Given the description of an element on the screen output the (x, y) to click on. 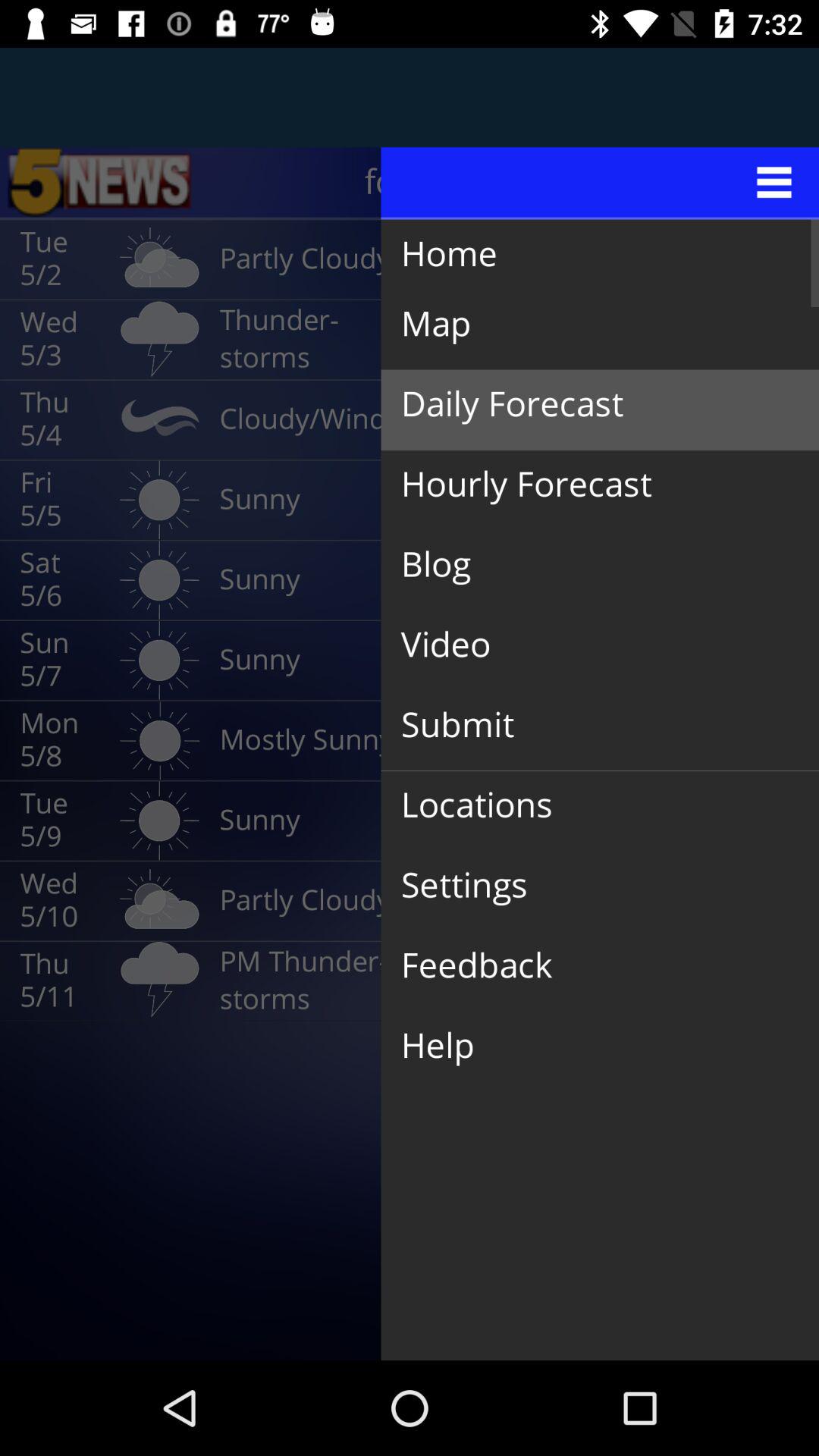
go to the icon which next to the  sat 56 (159, 580)
select the sun icon which is beside mon 58 (159, 739)
